Given the description of an element on the screen output the (x, y) to click on. 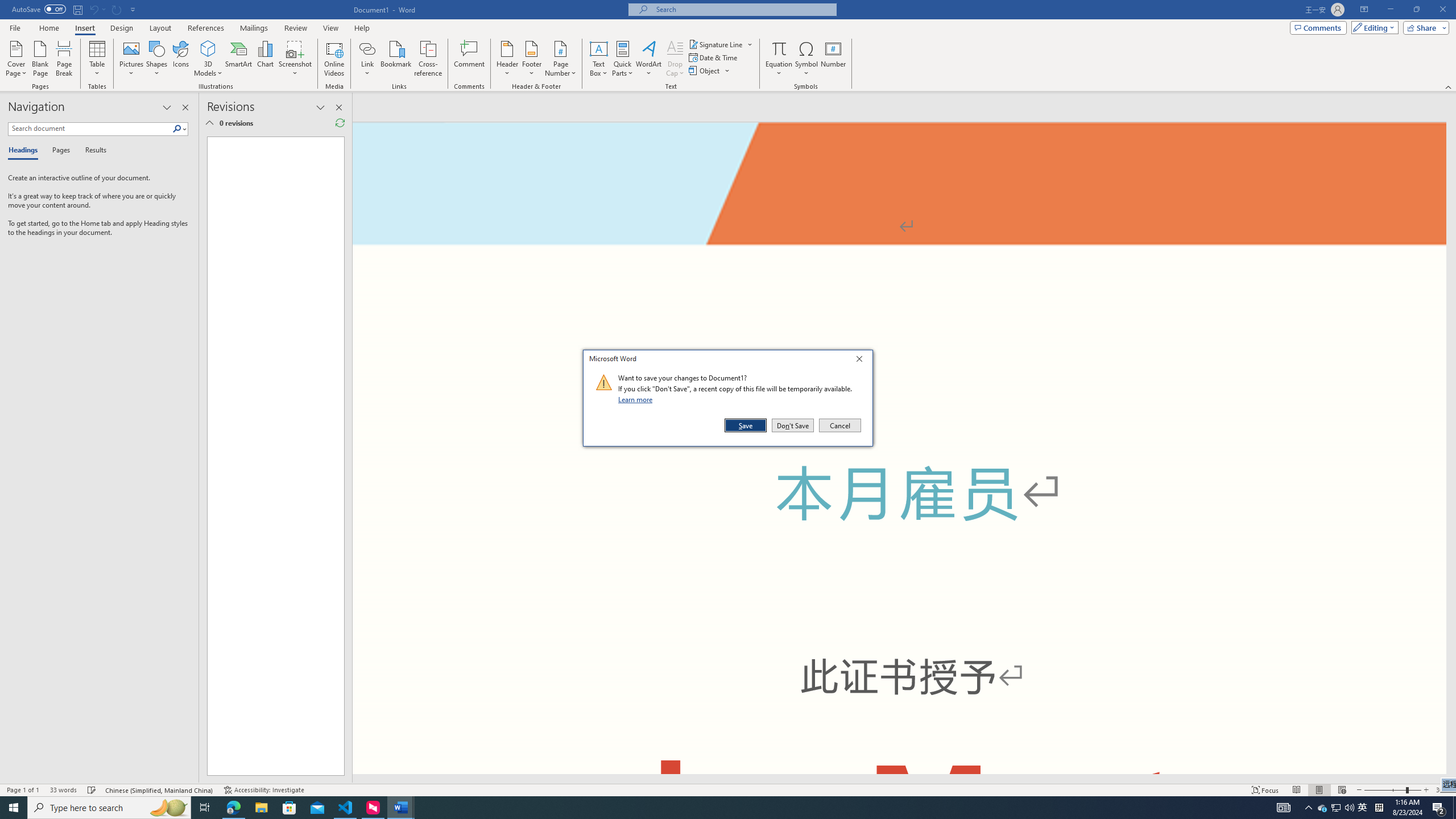
Signature Line (721, 44)
Page Number Page 1 of 1 (22, 790)
Link (367, 48)
Pictures (131, 58)
Table (97, 58)
